Given the description of an element on the screen output the (x, y) to click on. 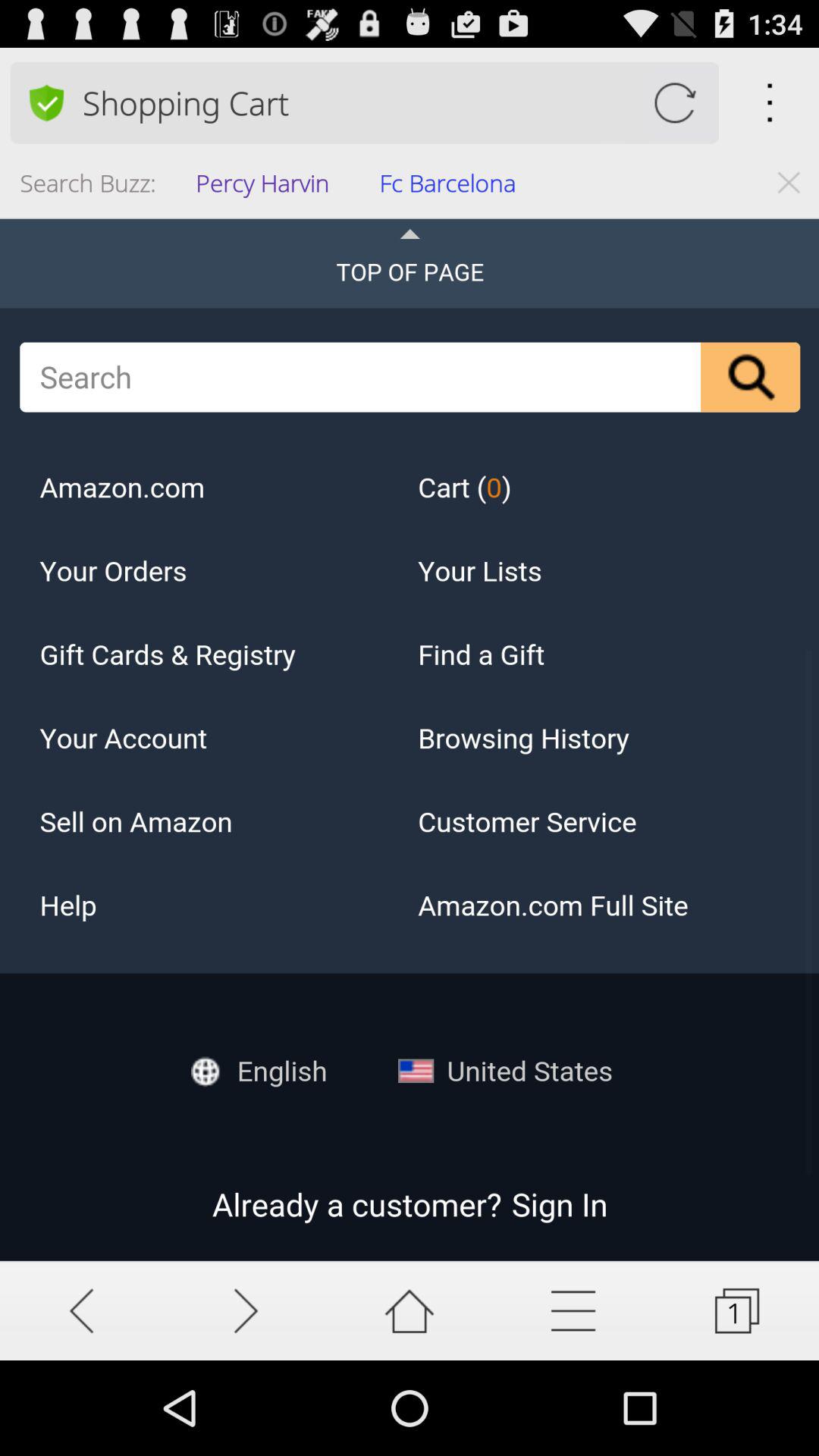
turn on item to the left of the 1 (573, 1310)
